Given the description of an element on the screen output the (x, y) to click on. 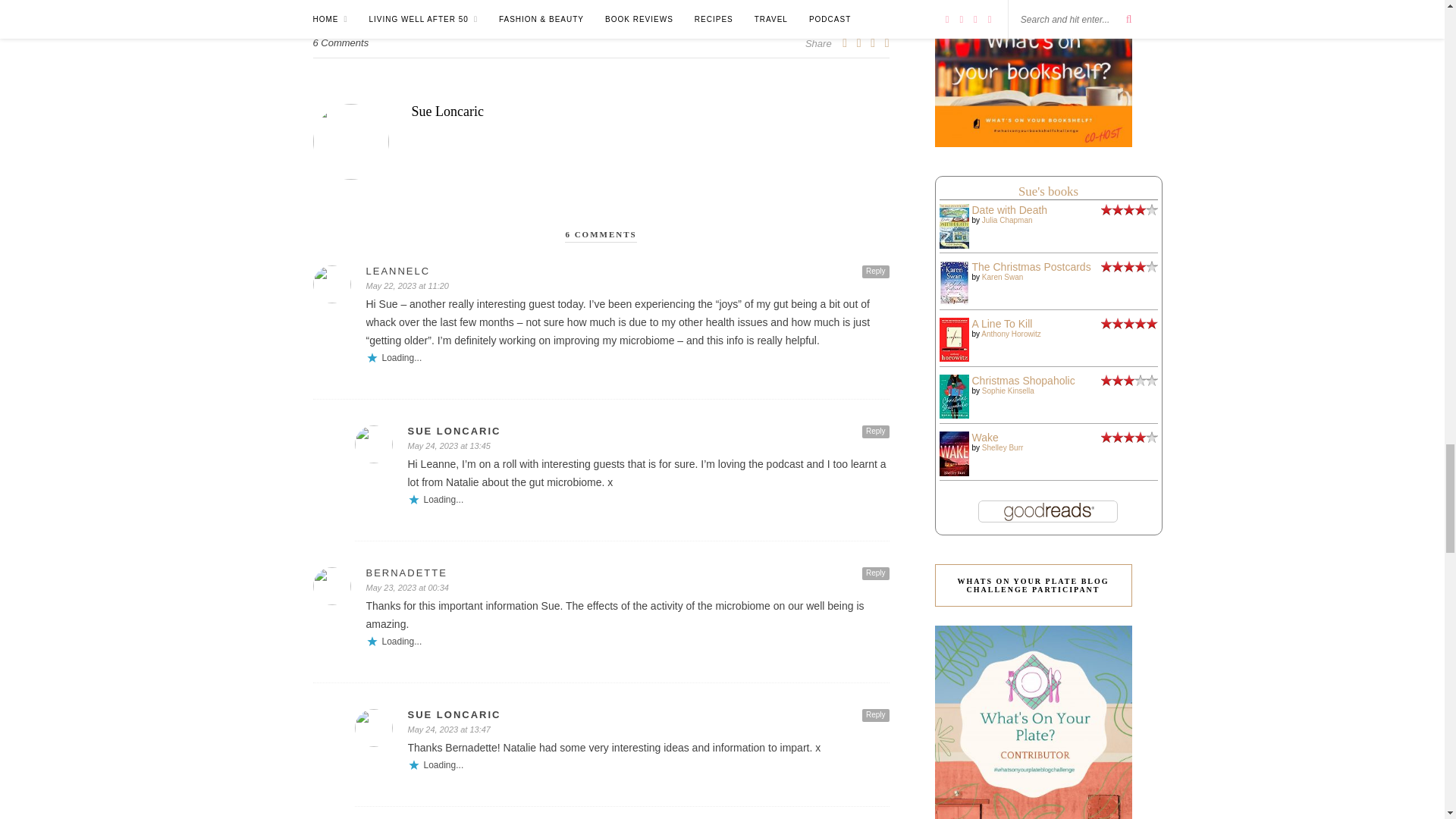
Posts by Sue Loncaric (600, 111)
really liked it (1128, 211)
